Given the description of an element on the screen output the (x, y) to click on. 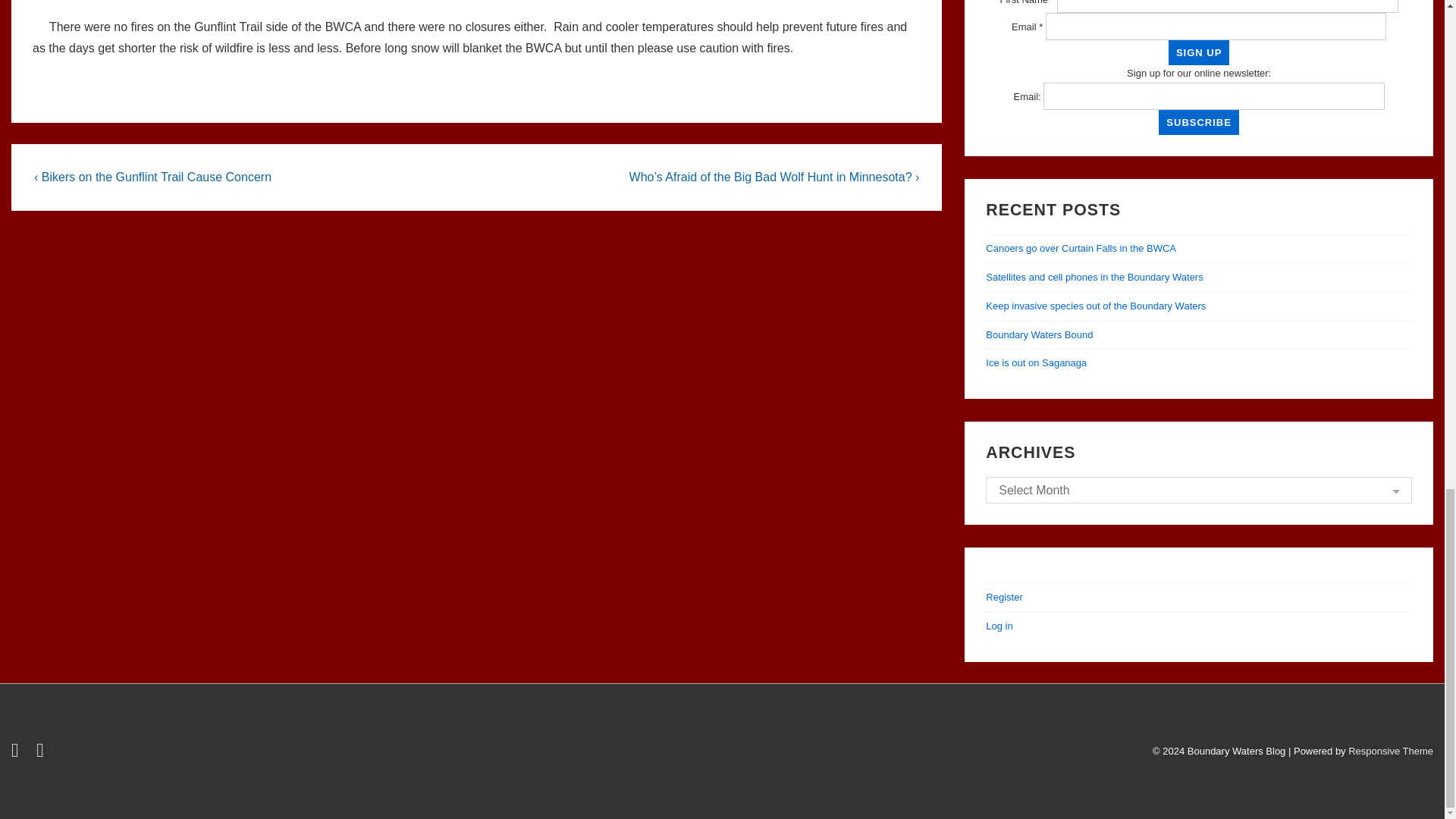
Canoers go over Curtain Falls in the BWCA (1080, 247)
Subscribe (1198, 122)
Sign Up (1198, 52)
Sign Up (1198, 52)
Satellites and cell phones in the Boundary Waters (1093, 276)
twitter (17, 753)
facebook (42, 753)
Subscribe (1198, 122)
